Given the description of an element on the screen output the (x, y) to click on. 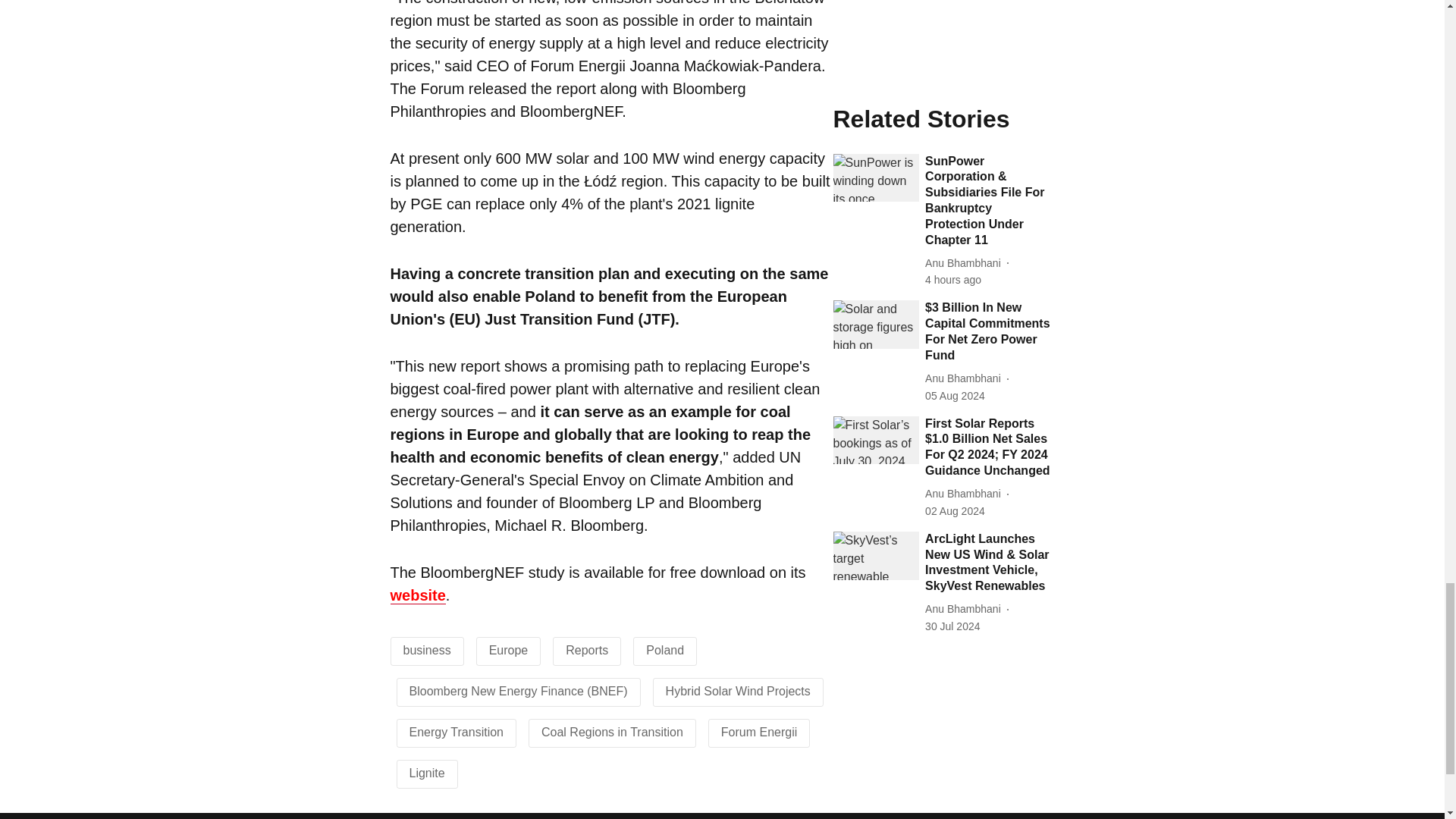
Poland (665, 649)
Hybrid Solar Wind Projects (737, 689)
Reports (587, 649)
Lignite (427, 771)
Coal Regions in Transition (611, 730)
website (417, 595)
business (427, 649)
Energy Transition (456, 730)
Europe (508, 649)
Forum Energii (758, 730)
